Given the description of an element on the screen output the (x, y) to click on. 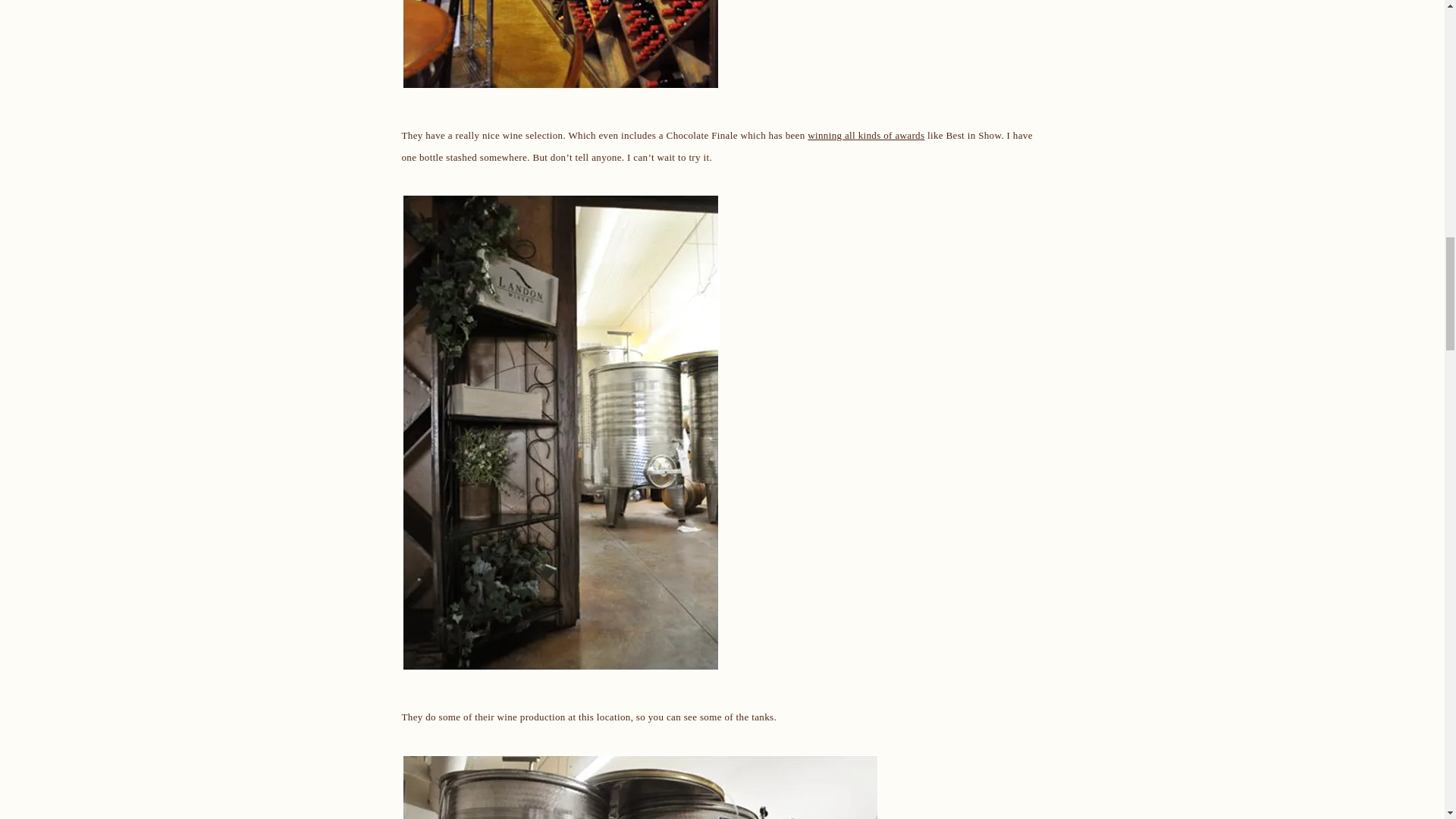
winning all kinds of awards (866, 134)
